Given the description of an element on the screen output the (x, y) to click on. 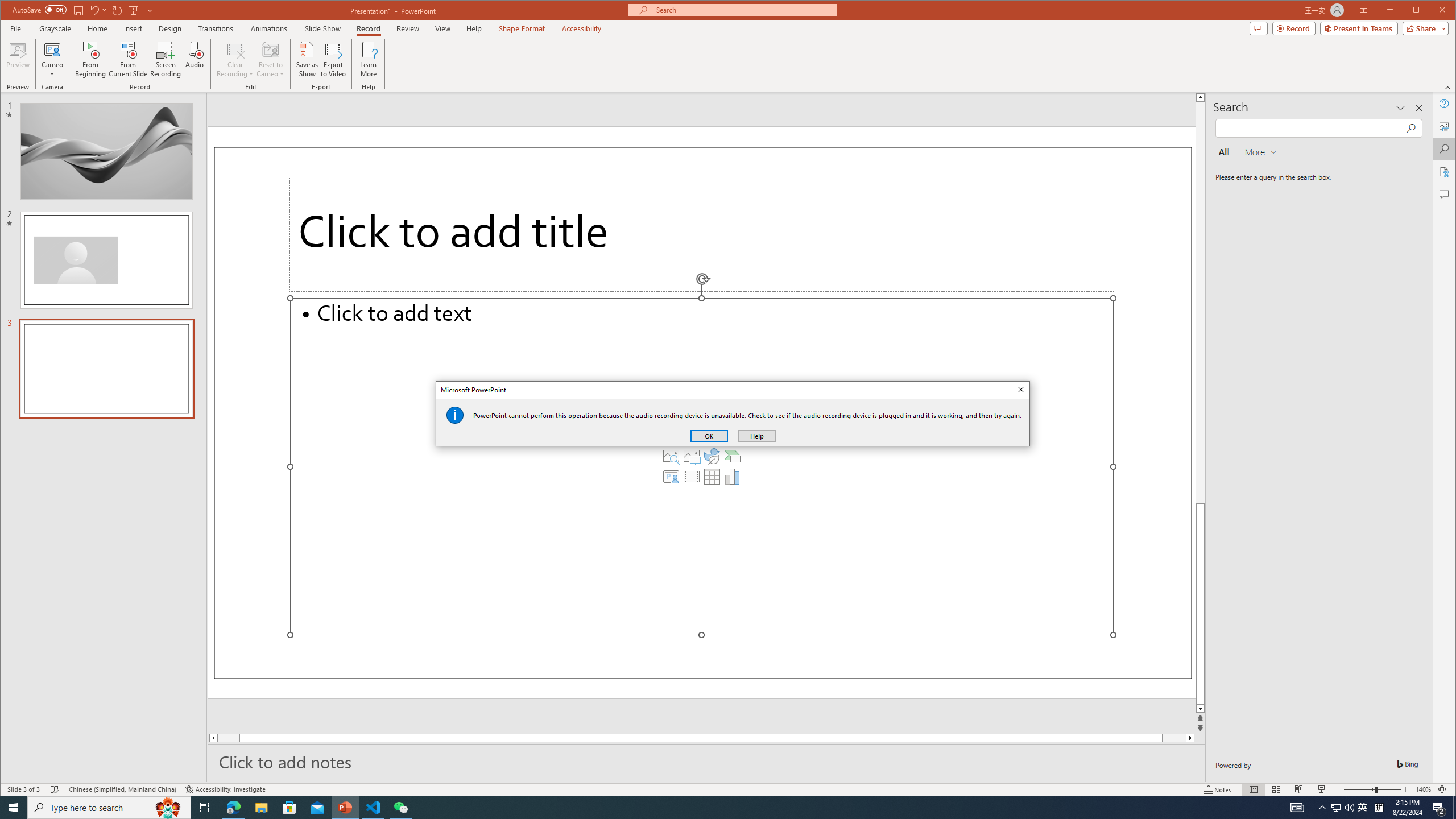
From Beginning... (90, 59)
Clear Recording (234, 59)
